Given the description of an element on the screen output the (x, y) to click on. 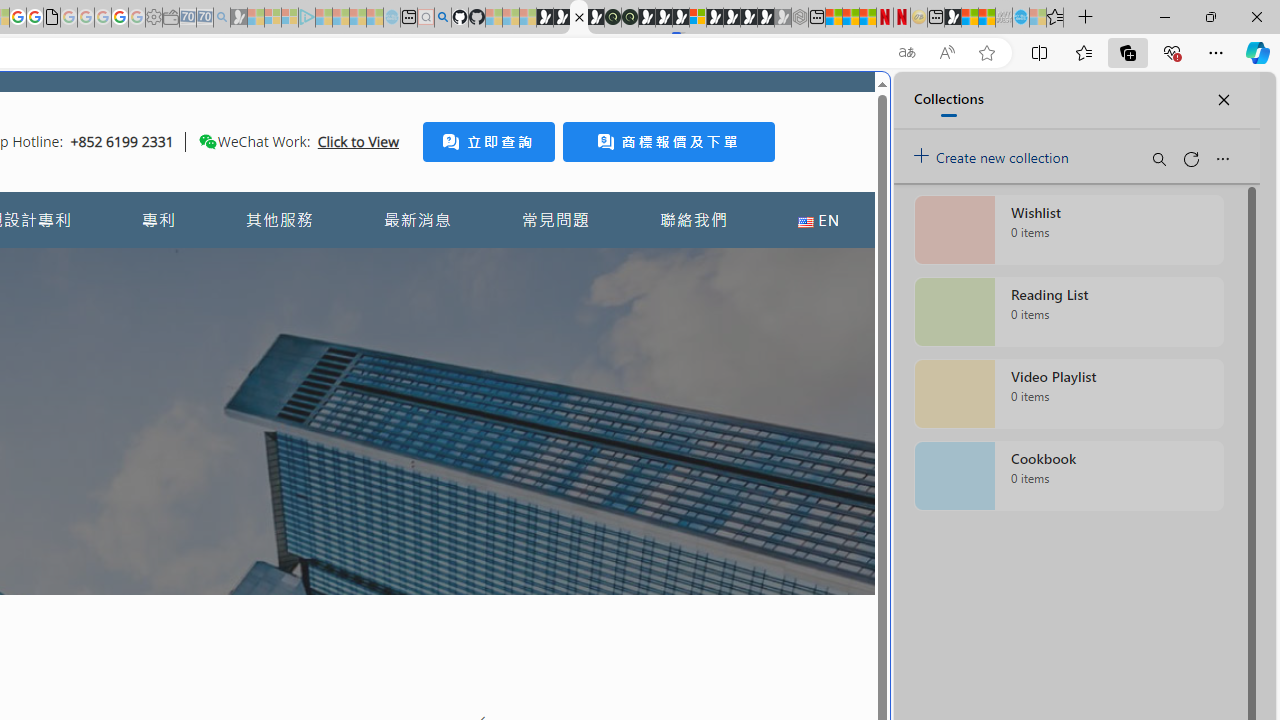
Earth has six continents not seven, radical new study claims (986, 17)
Home | Sky Blue Bikes - Sky Blue Bikes - Sleeping (392, 17)
Home | Sky Blue Bikes - Sky Blue Bikes (687, 426)
Microsoft Start Gaming - Sleeping (238, 17)
Future Focus Report 2024 (629, 17)
